Given the description of an element on the screen output the (x, y) to click on. 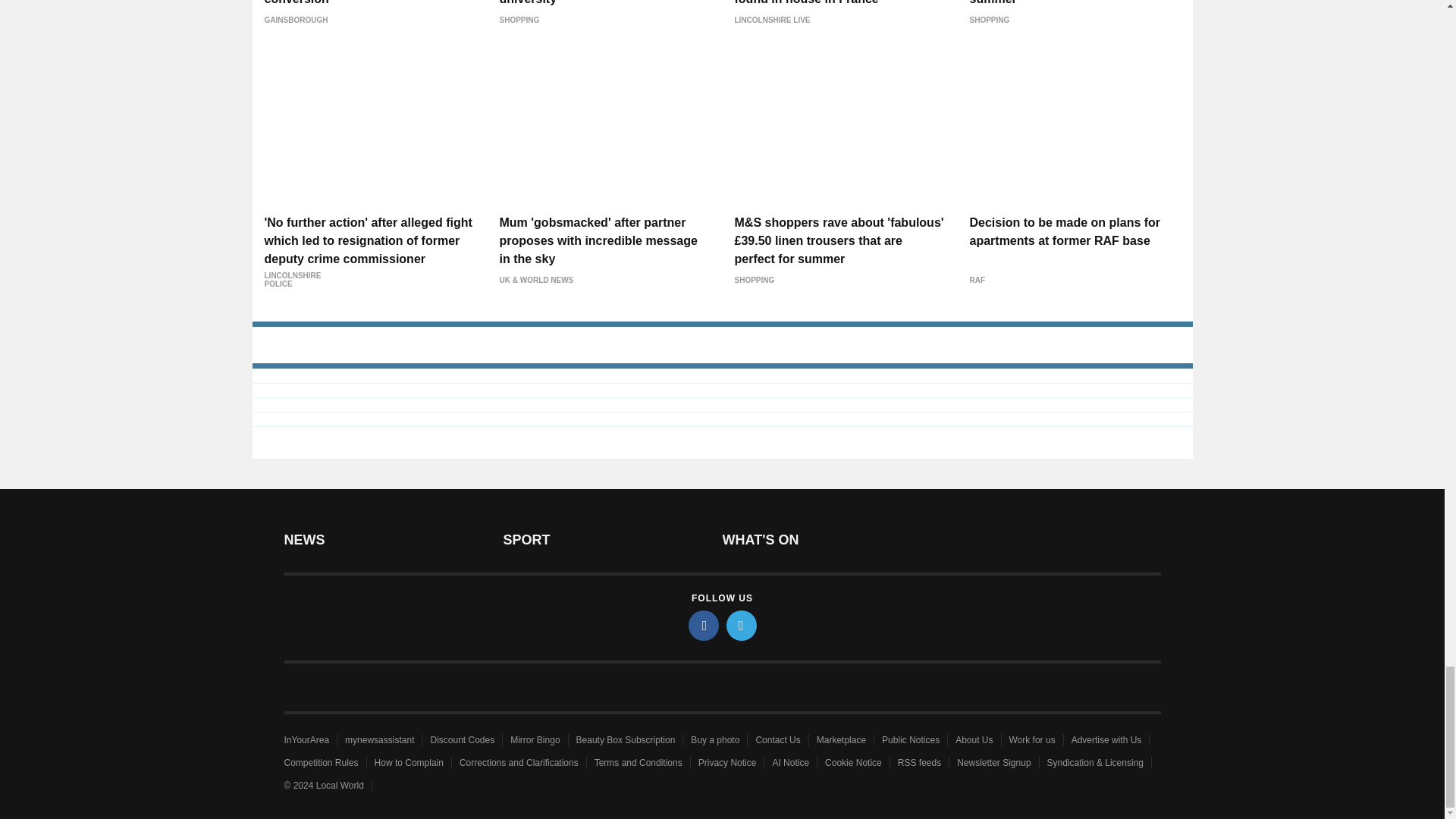
facebook (703, 625)
twitter (741, 625)
